Given the description of an element on the screen output the (x, y) to click on. 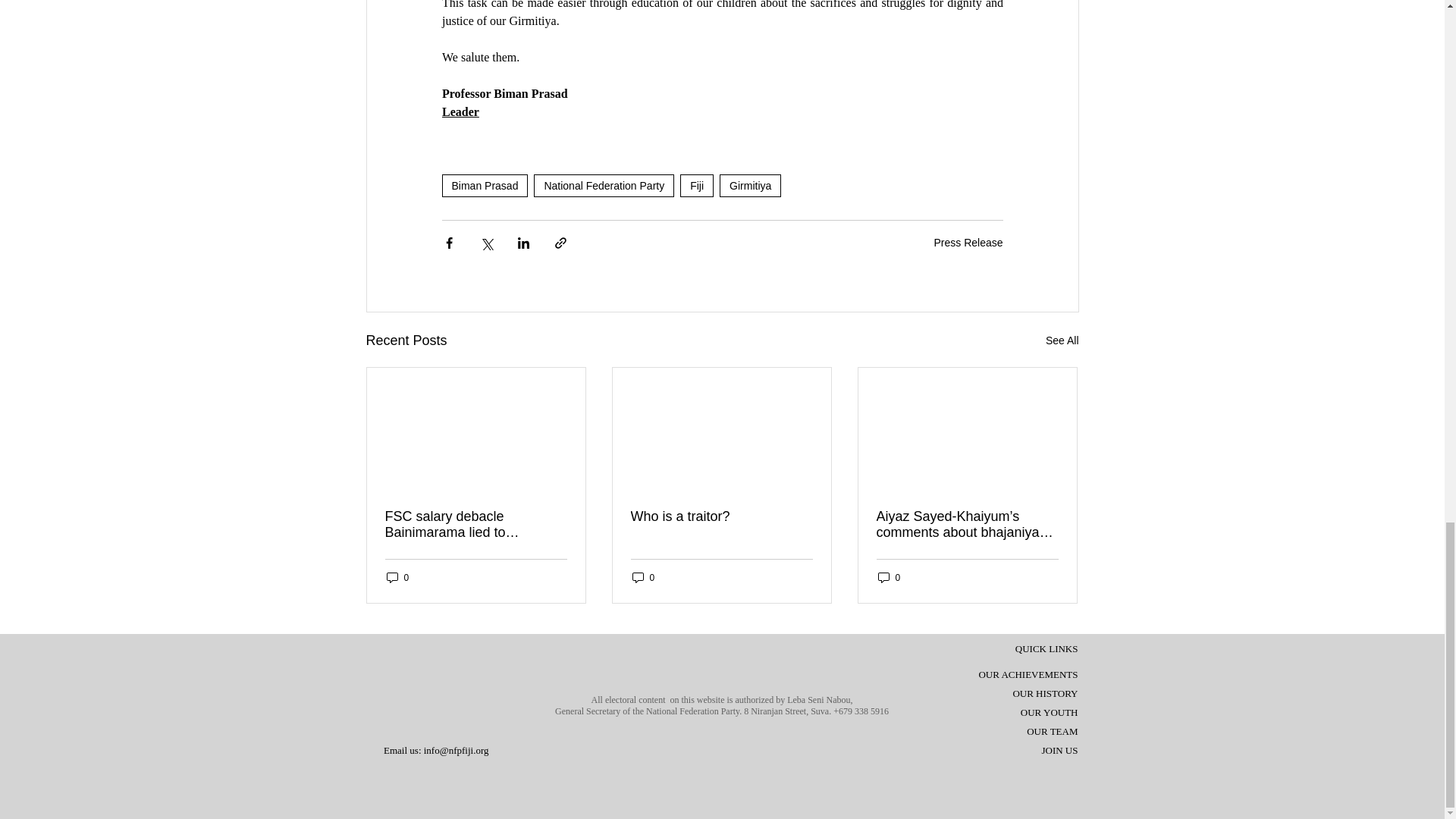
Girmitiya (749, 185)
National Federation Party (604, 185)
Fiji (696, 185)
See All (1061, 341)
Press Release (968, 242)
Biman Prasad (484, 185)
